Given the description of an element on the screen output the (x, y) to click on. 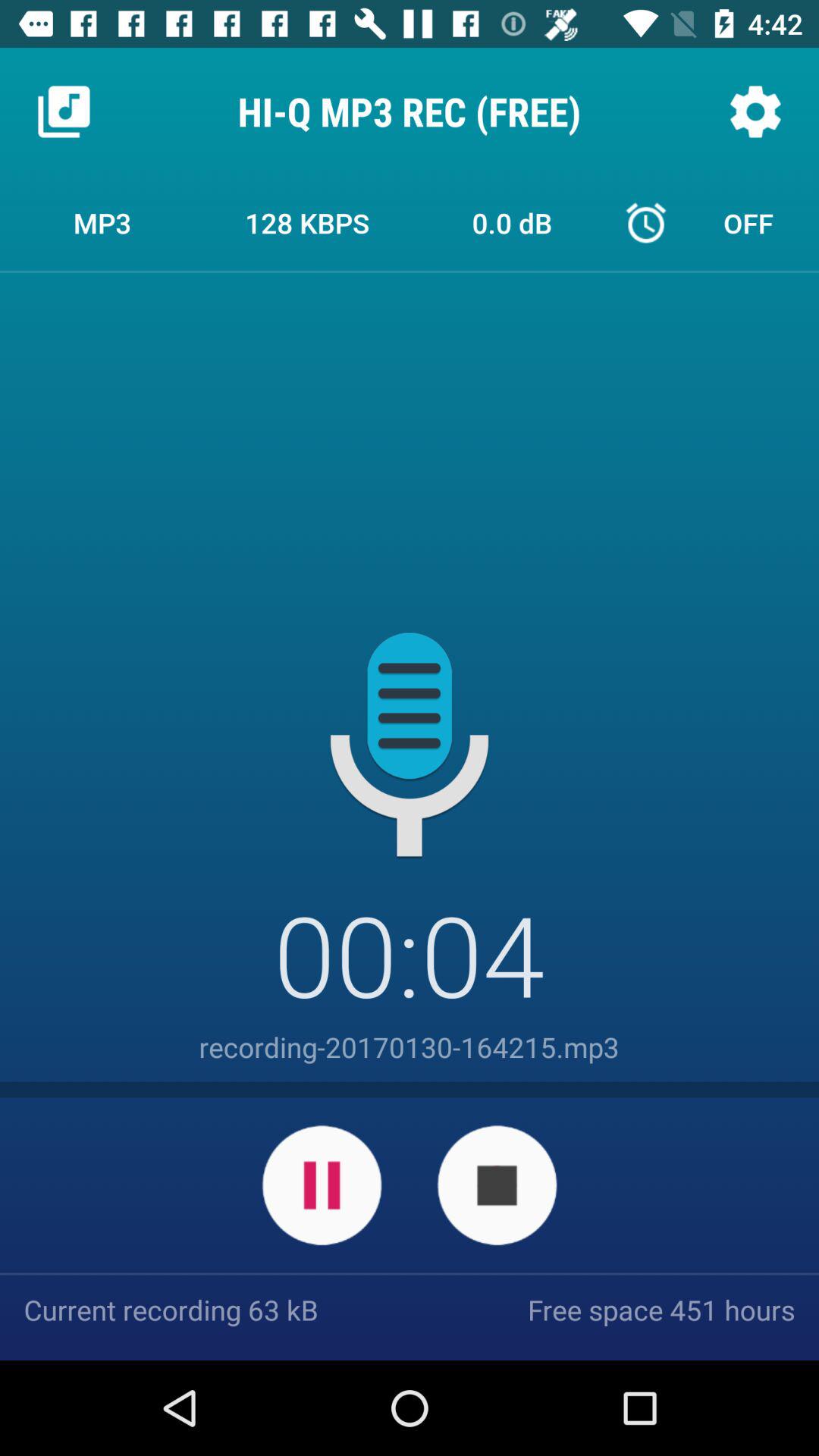
open the item above the mp3 (63, 111)
